Given the description of an element on the screen output the (x, y) to click on. 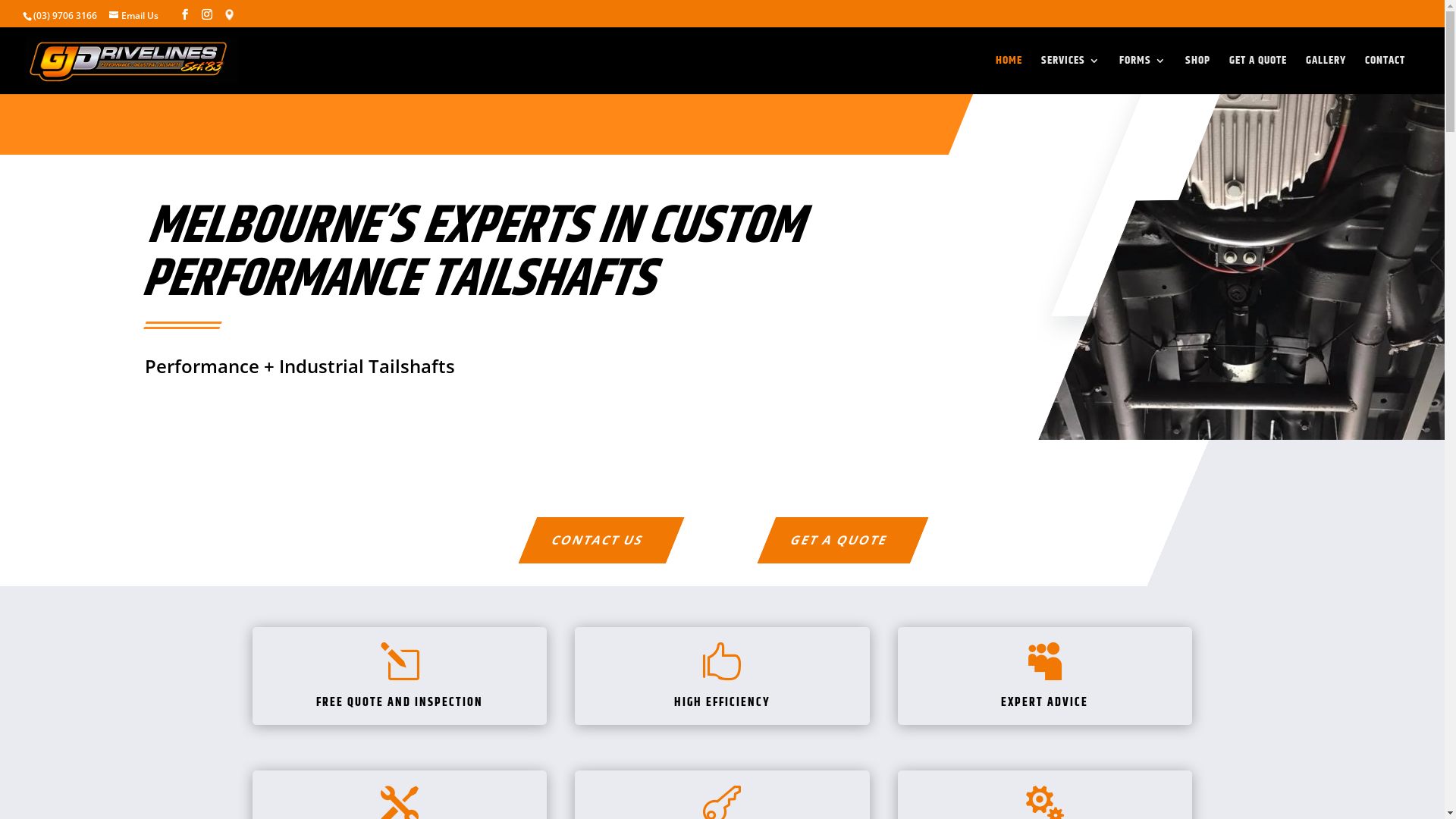
CONTACT US Element type: text (591, 540)
GET A QUOTE Element type: text (833, 540)
SHOP Element type: text (1197, 74)
CONTACT Element type: text (1385, 74)
Email Us Element type: text (138, 15)
SERVICES Element type: text (1070, 74)
(03) 9706 3166 Element type: text (64, 15)
FORMS Element type: text (1142, 74)
HOME Element type: text (1008, 74)
GET A QUOTE Element type: text (1257, 74)
GALLERY Element type: text (1325, 74)
